Given the description of an element on the screen output the (x, y) to click on. 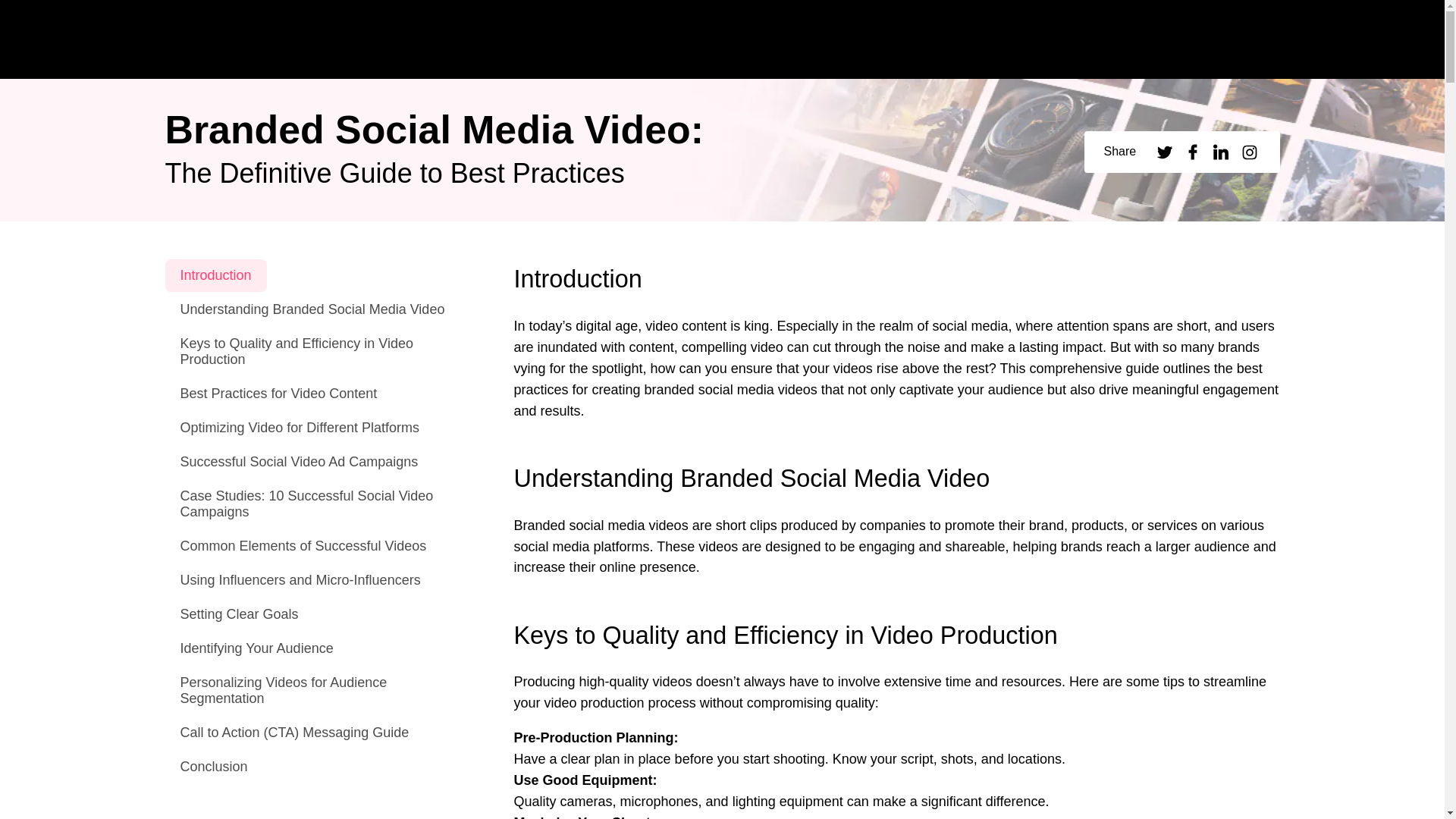
Best Practices for Video Content (279, 393)
Common Elements of Successful Videos (303, 545)
Using Influencers and Micro-Influencers (300, 580)
Successful Social Video Ad Campaigns (299, 461)
Setting Clear Goals (239, 614)
Identifying Your Audience (257, 648)
Keys to Quality and Efficiency in Video Production (322, 351)
Understanding Branded Social Media Video (312, 309)
Introduction (215, 275)
Optimizing Video for Different Platforms (299, 427)
